Given the description of an element on the screen output the (x, y) to click on. 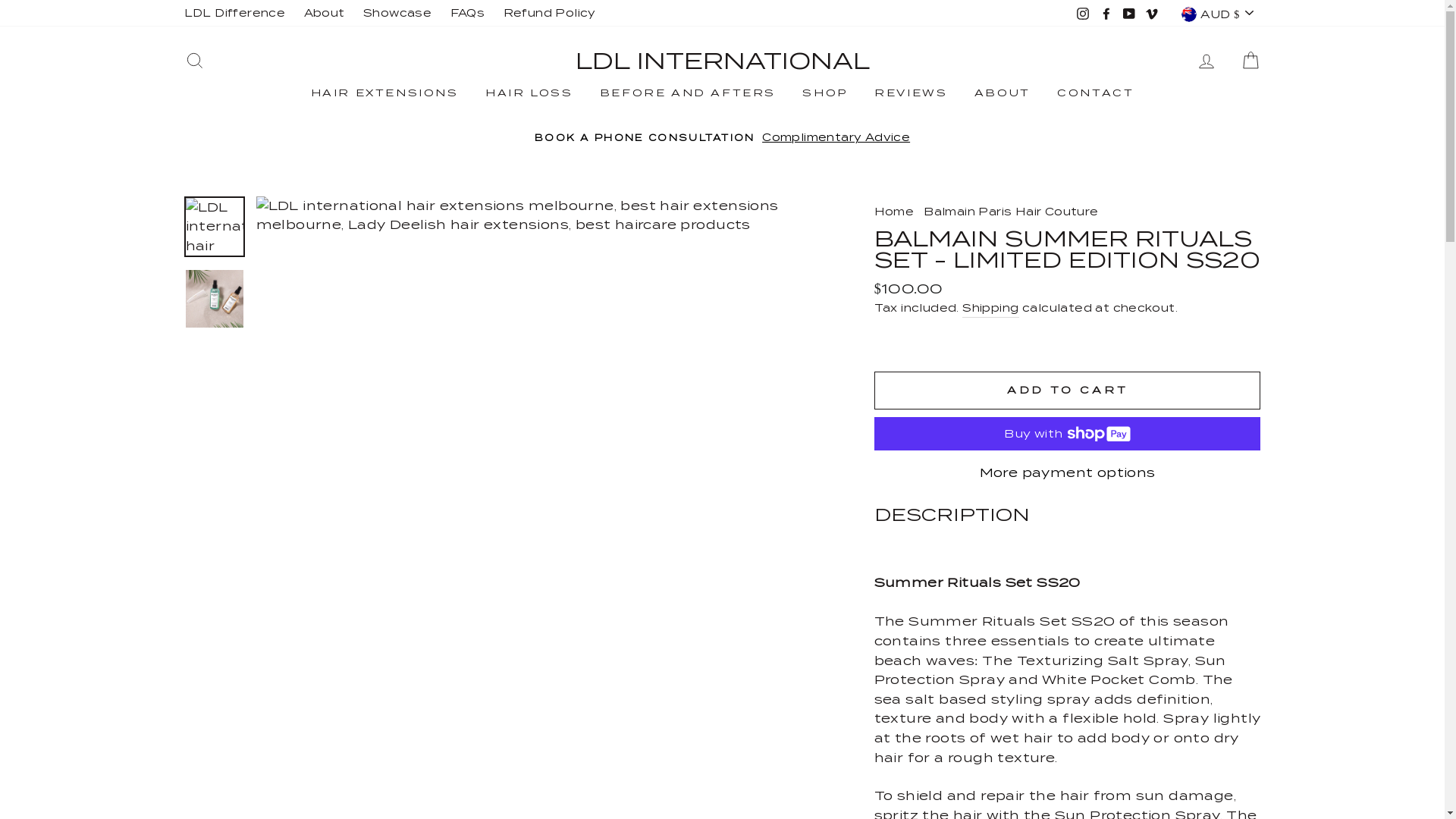
ABOUT Element type: text (1002, 92)
LOG IN Element type: text (1206, 60)
Skip to content Element type: text (0, 0)
Refund Policy Element type: text (549, 13)
More payment options Element type: text (1067, 472)
AUD $ Element type: text (1218, 13)
ADD TO CART Element type: text (1067, 390)
Shipping Element type: text (990, 308)
About Element type: text (324, 13)
CART Element type: text (1249, 60)
YouTube Element type: text (1129, 13)
CONTACT Element type: text (1095, 92)
LDL INTERNATIONAL Element type: text (721, 60)
LDL Difference Element type: text (233, 13)
Vimeo Element type: text (1151, 13)
Showcase Element type: text (397, 13)
SHOP Element type: text (824, 92)
HAIR LOSS Element type: text (528, 92)
BEFORE AND AFTERS Element type: text (687, 92)
HAIR EXTENSIONS Element type: text (384, 92)
Balmain Paris Hair Couture Element type: text (1010, 211)
Instagram Element type: text (1082, 13)
REVIEWS Element type: text (910, 92)
FAQs Element type: text (467, 13)
SEARCH Element type: text (193, 60)
Facebook Element type: text (1106, 13)
BOOK A PHONE CONSULTATION Complimentary Advice Element type: text (722, 137)
Home Element type: text (894, 211)
